Given the description of an element on the screen output the (x, y) to click on. 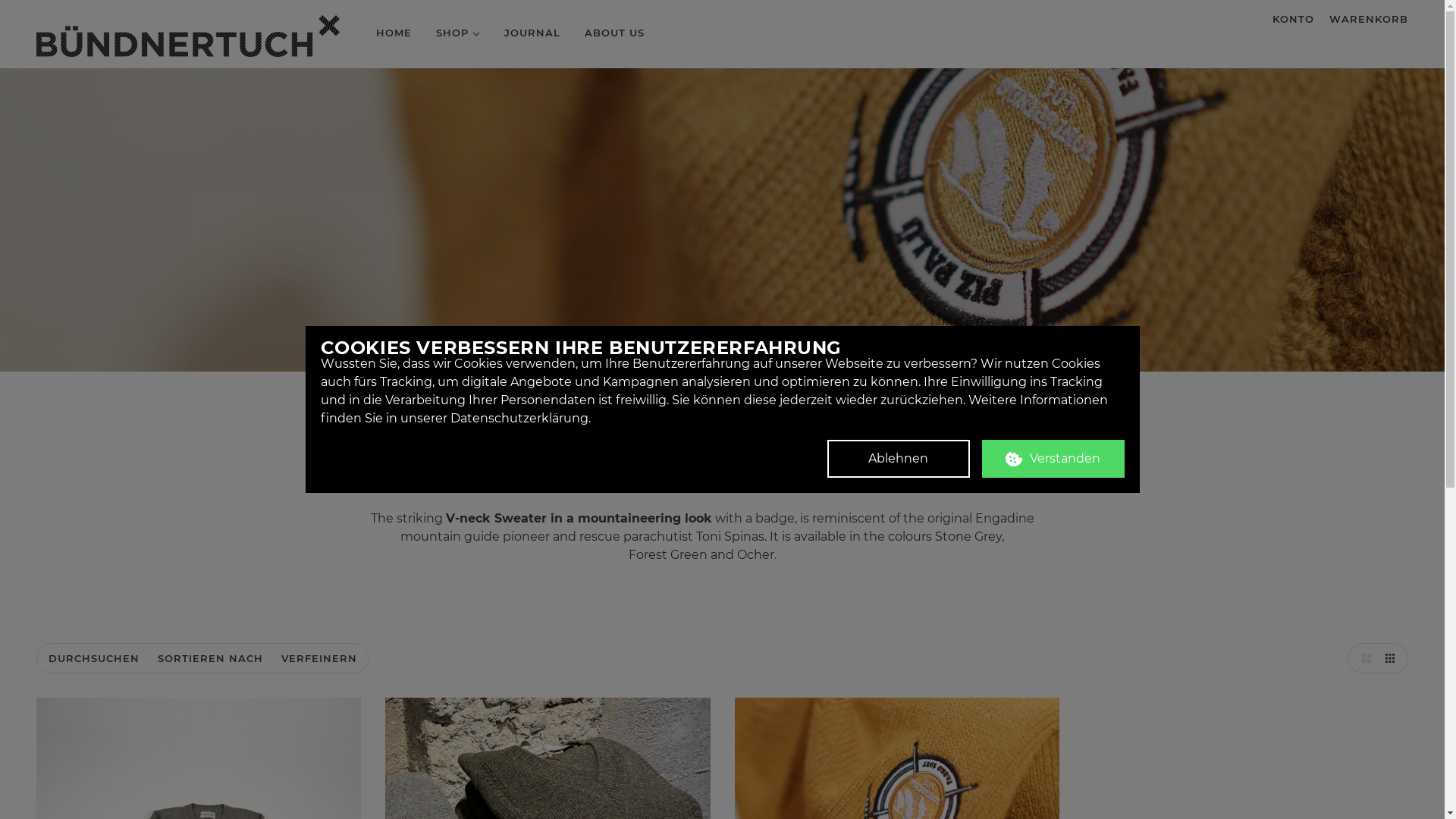
Verstanden Element type: text (1052, 458)
KONTO Element type: text (1292, 18)
HOME Element type: text (393, 32)
SHOP Element type: text (457, 32)
ABOUT US Element type: text (614, 32)
WARENKORB Element type: text (1368, 18)
JOURNAL Element type: text (532, 32)
/ Element type: hover (187, 35)
Ablehnen Element type: text (897, 458)
